Given the description of an element on the screen output the (x, y) to click on. 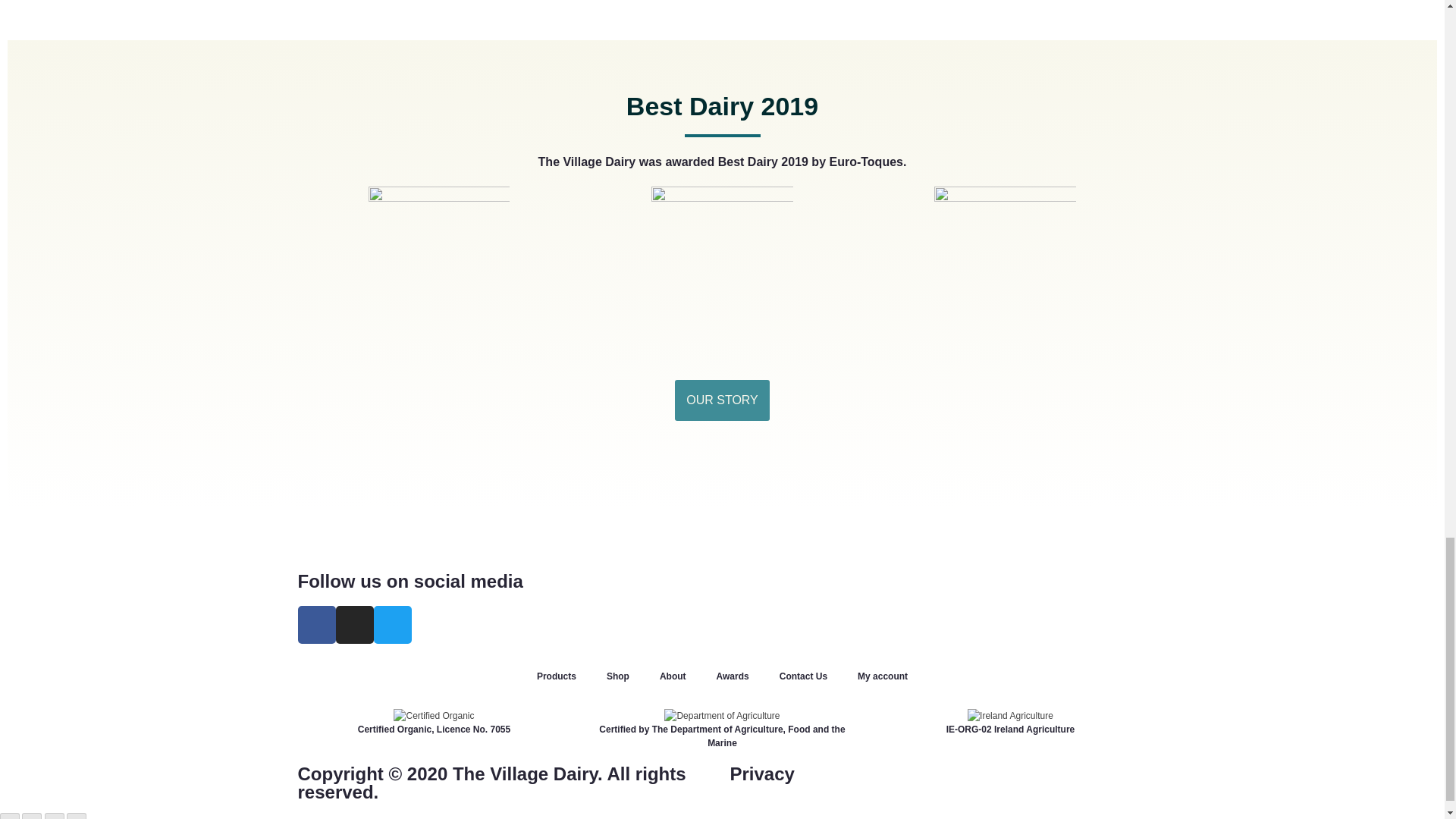
Awards (732, 676)
About (673, 676)
Shop (618, 676)
My account (883, 676)
OUR STORY (722, 400)
Contact Us (803, 676)
Products (556, 676)
Privacy (761, 773)
